Given the description of an element on the screen output the (x, y) to click on. 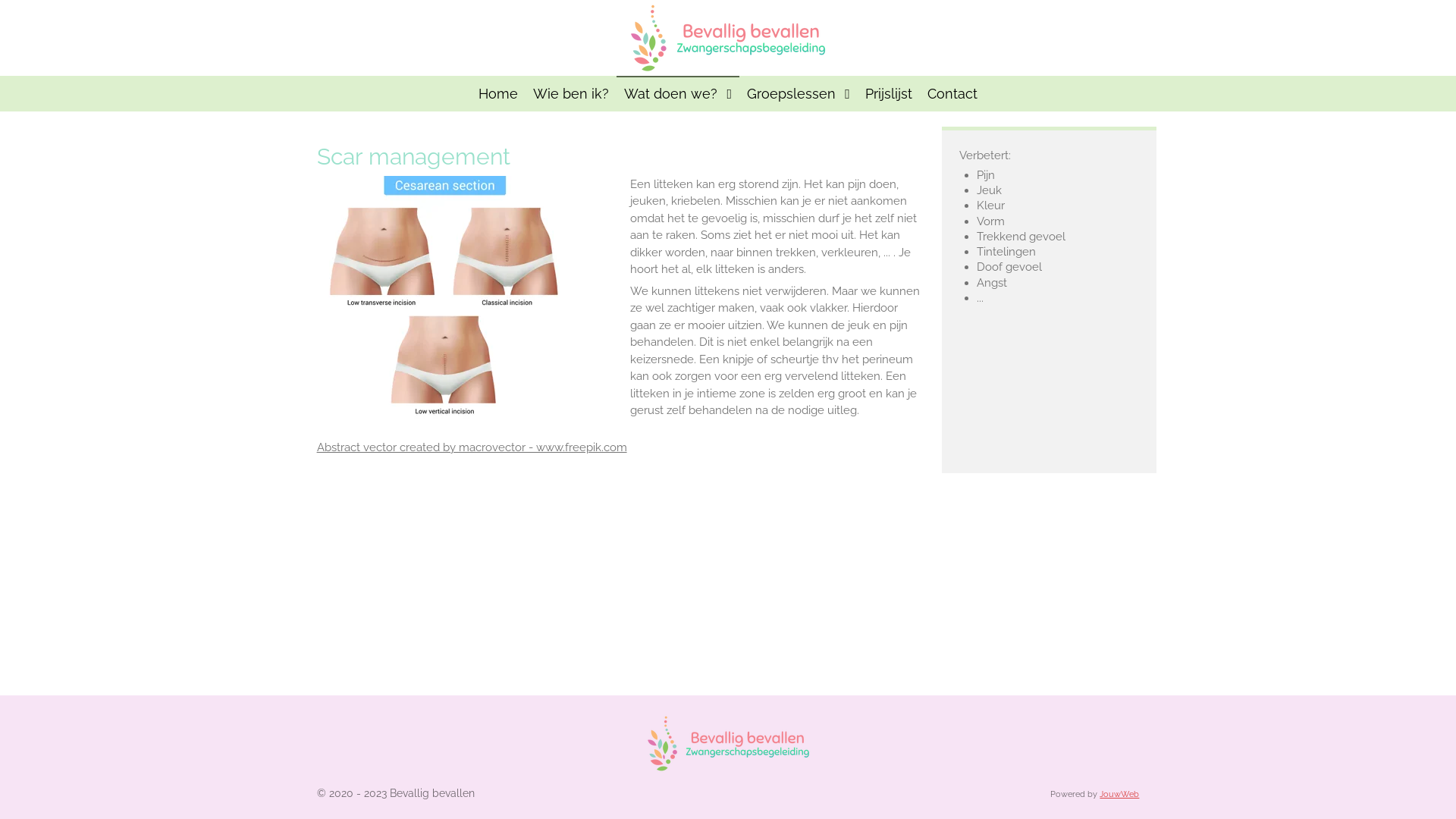
Wat doen we? Element type: text (677, 93)
JouwWeb Element type: text (1119, 793)
Groepslessen Element type: text (798, 93)
Abstract vector created by macrovector - www.freepik.com Element type: text (471, 447)
Home Element type: text (497, 93)
Bevallig bevallen Element type: hover (727, 37)
Contact Element type: text (952, 93)
Wie ben ik? Element type: text (570, 93)
Prijslijst Element type: text (888, 93)
